Given the description of an element on the screen output the (x, y) to click on. 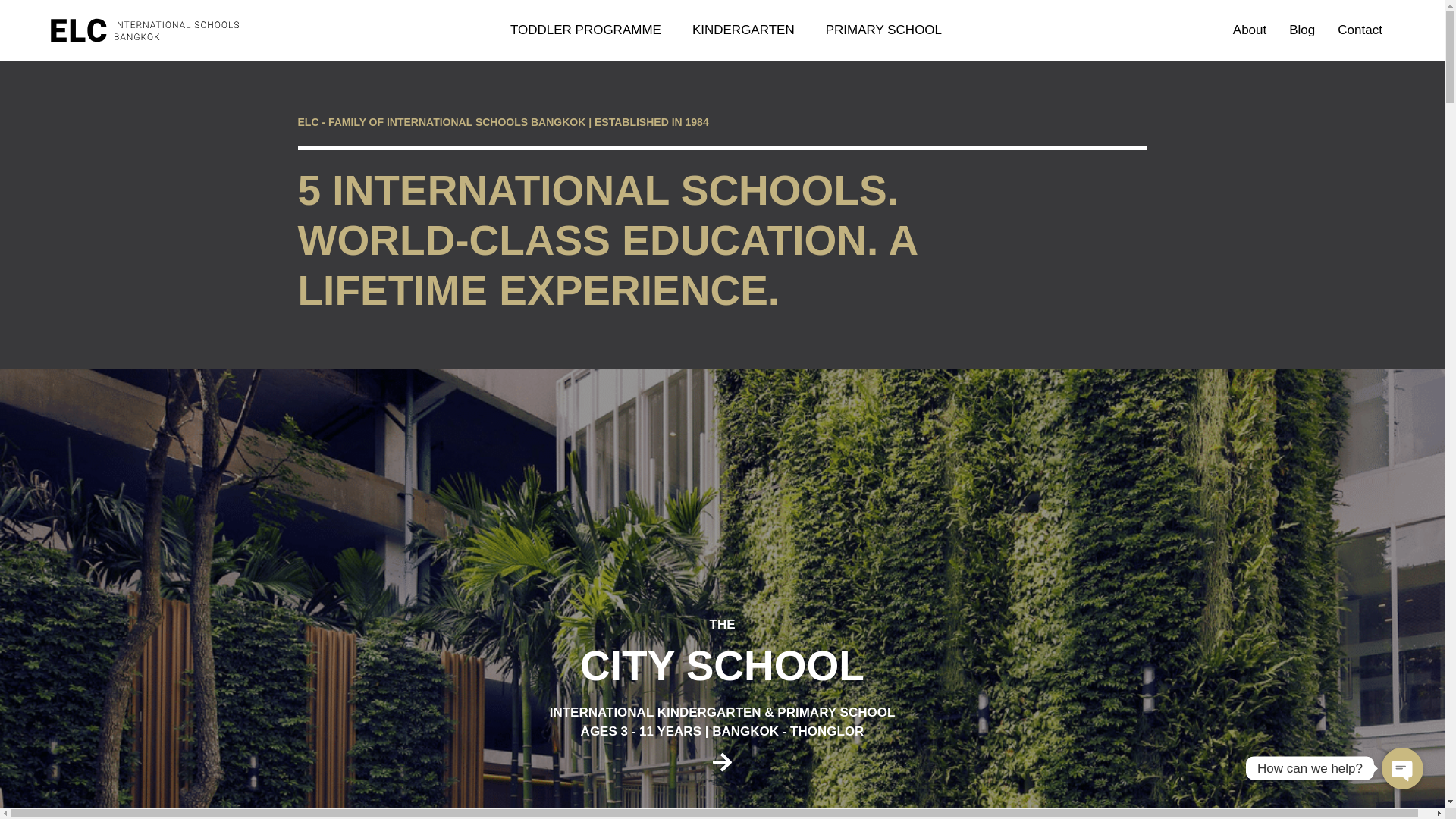
Contact (1359, 29)
About (1249, 29)
Blog (1302, 29)
KINDERGARTEN (747, 29)
PRIMARY SCHOOL (886, 29)
TODDLER PROGRAMME (590, 29)
